Given the description of an element on the screen output the (x, y) to click on. 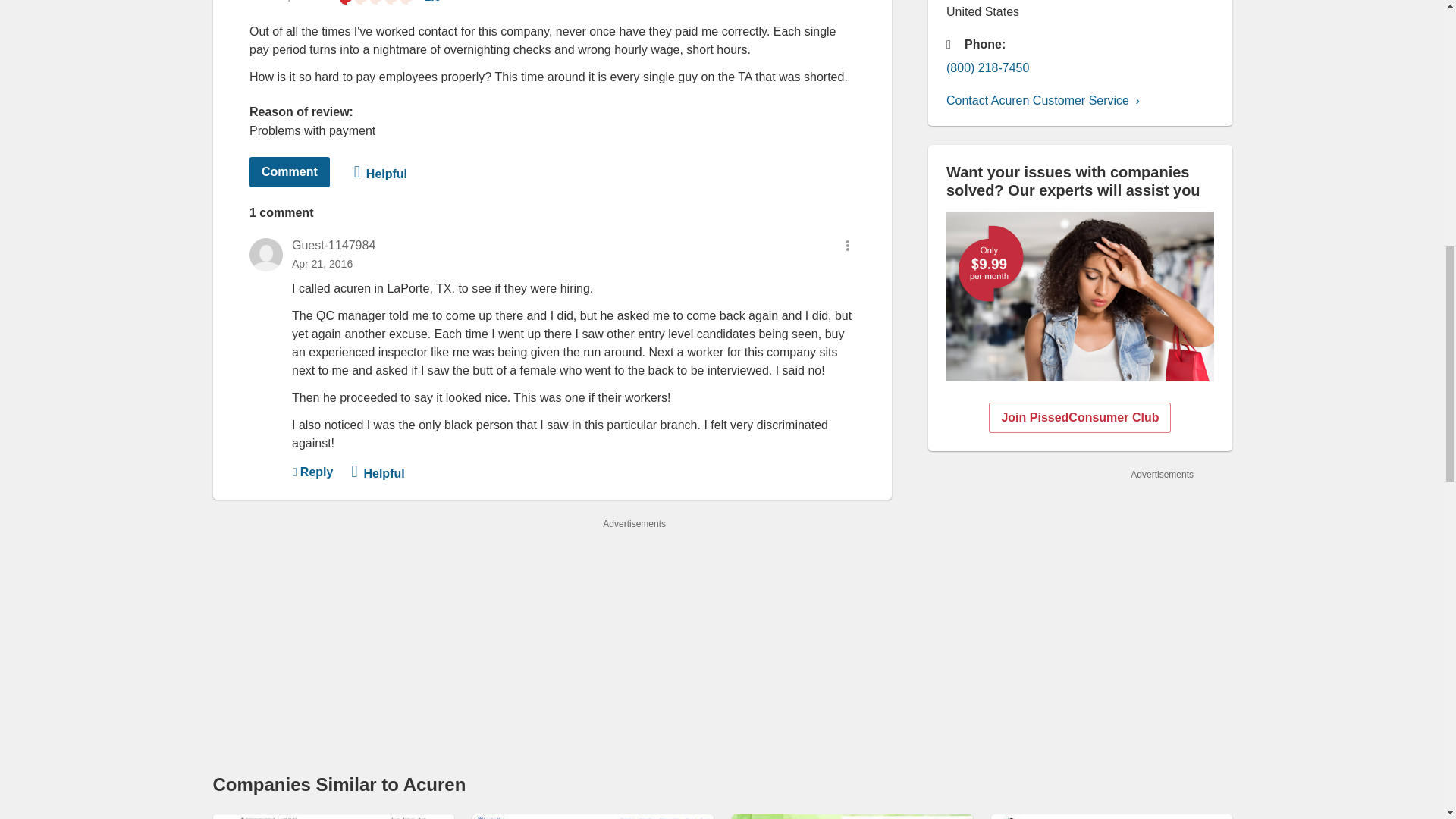
Contact Customer Service (1047, 101)
Contact Acuren Customer Service (1047, 101)
